Given the description of an element on the screen output the (x, y) to click on. 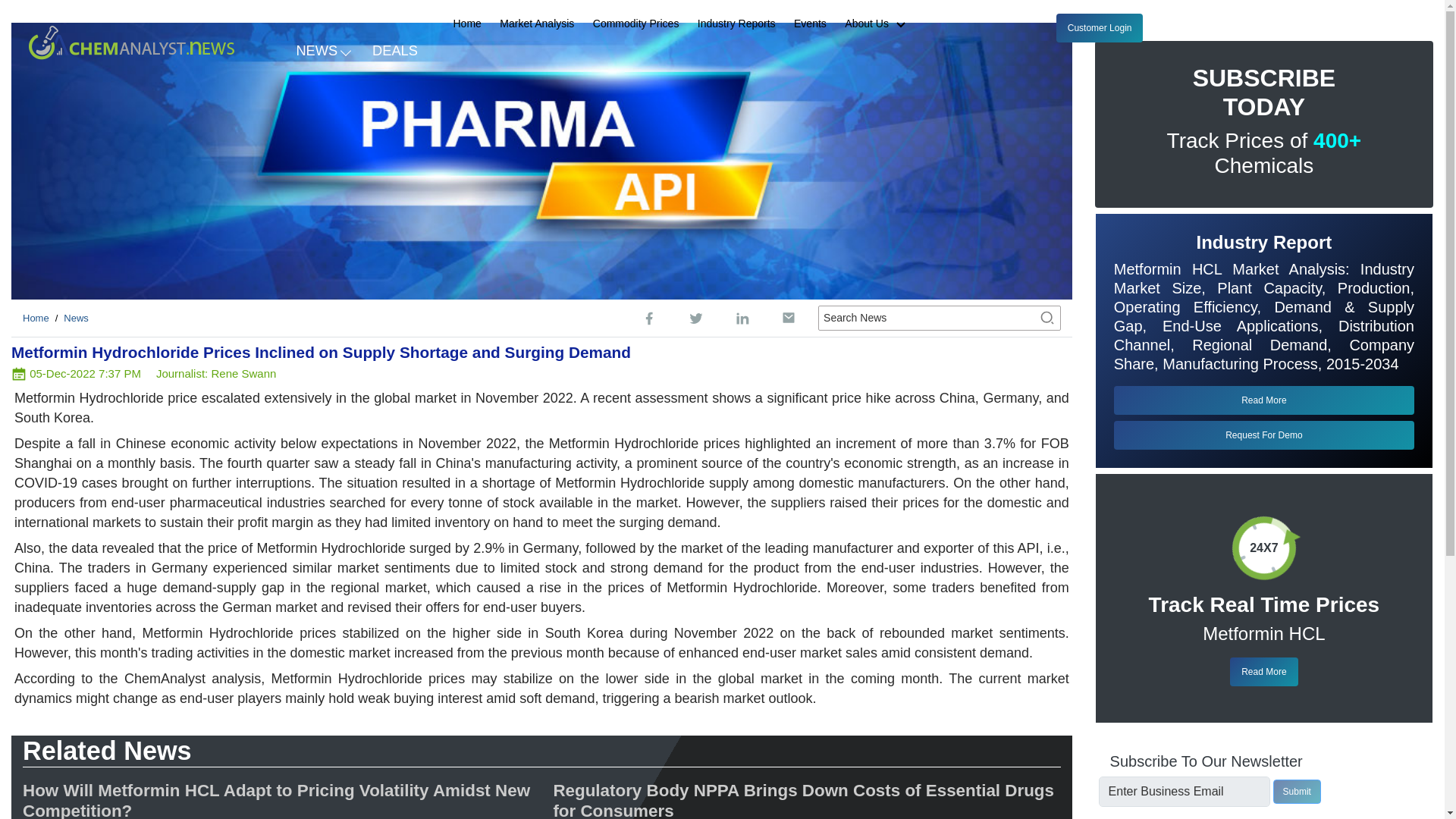
Home (36, 317)
Home (467, 23)
Events (810, 23)
About Us (880, 24)
Customer Login (1099, 27)
NEWS (322, 49)
Industry Reports (736, 23)
DEALS (395, 49)
Market Analysis (536, 23)
Commodity Prices (636, 23)
Submit (1296, 791)
